Given the description of an element on the screen output the (x, y) to click on. 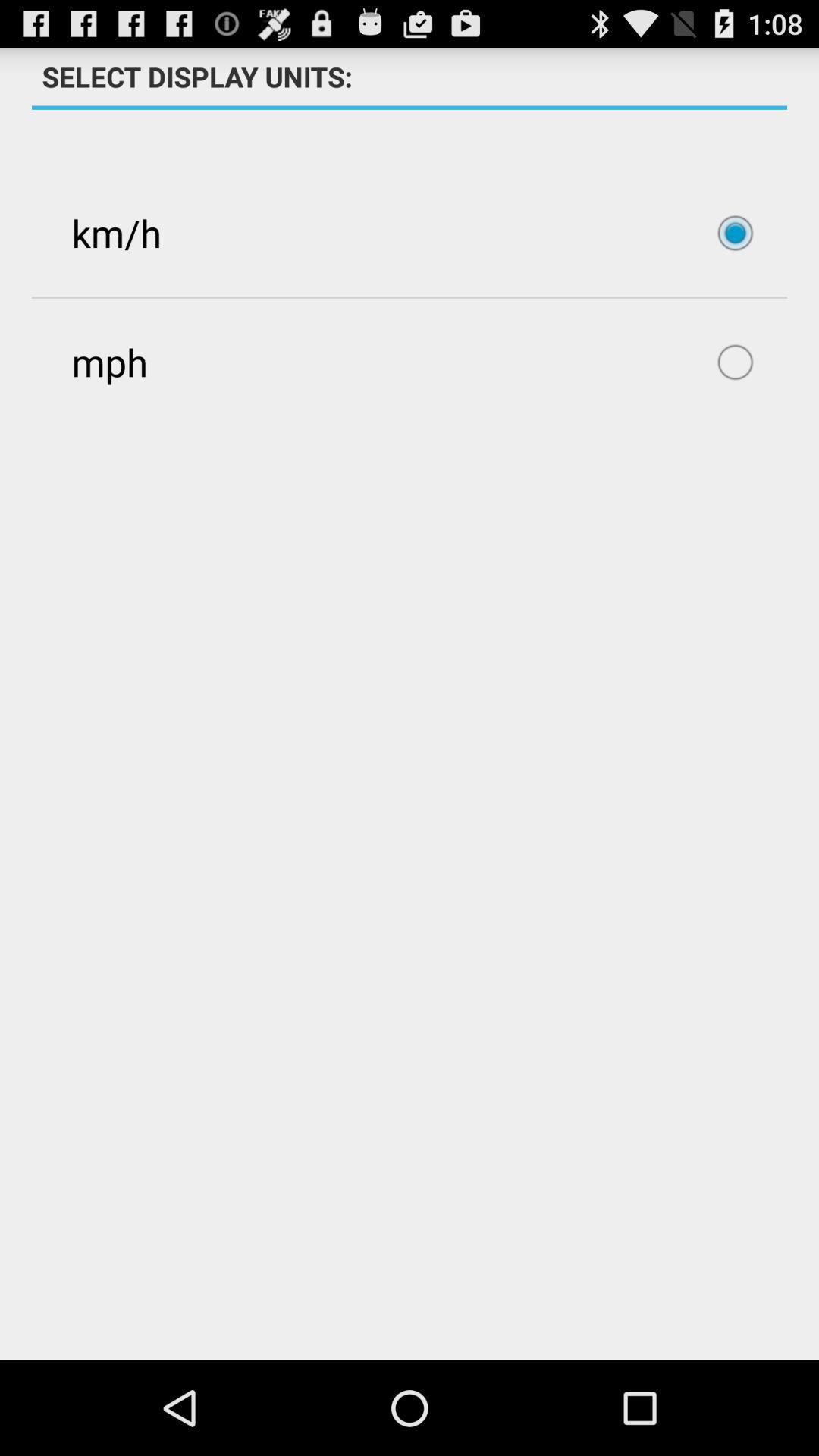
swipe to mph (409, 361)
